Given the description of an element on the screen output the (x, y) to click on. 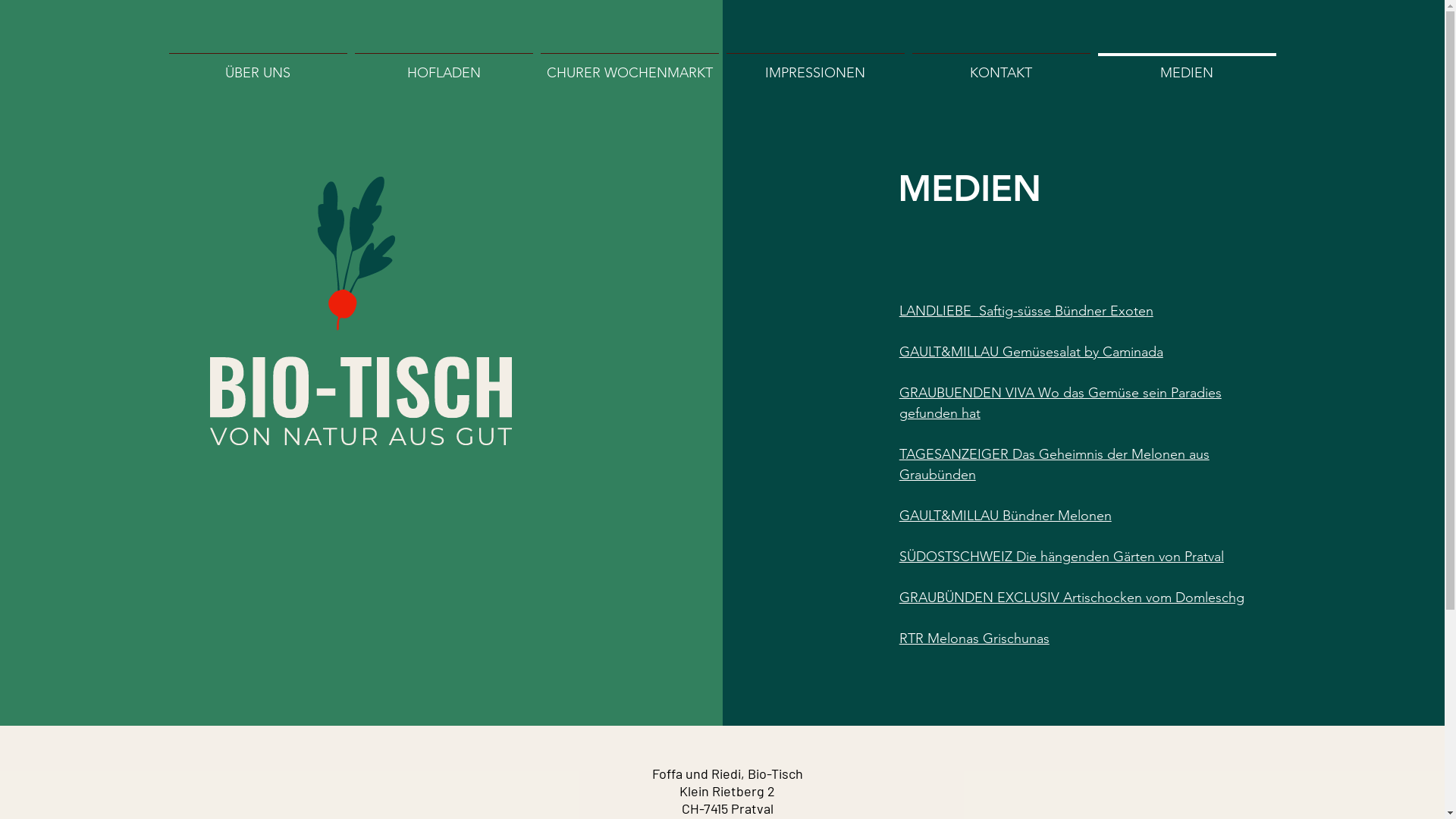
RTR Melonas Grischunas Element type: text (974, 638)
MEDIEN Element type: text (1186, 66)
CHURER WOCHENMARKT Element type: text (629, 66)
KONTAKT Element type: text (1001, 66)
HOFLADEN Element type: text (443, 66)
IMPRESSIONEN Element type: text (814, 66)
